Given the description of an element on the screen output the (x, y) to click on. 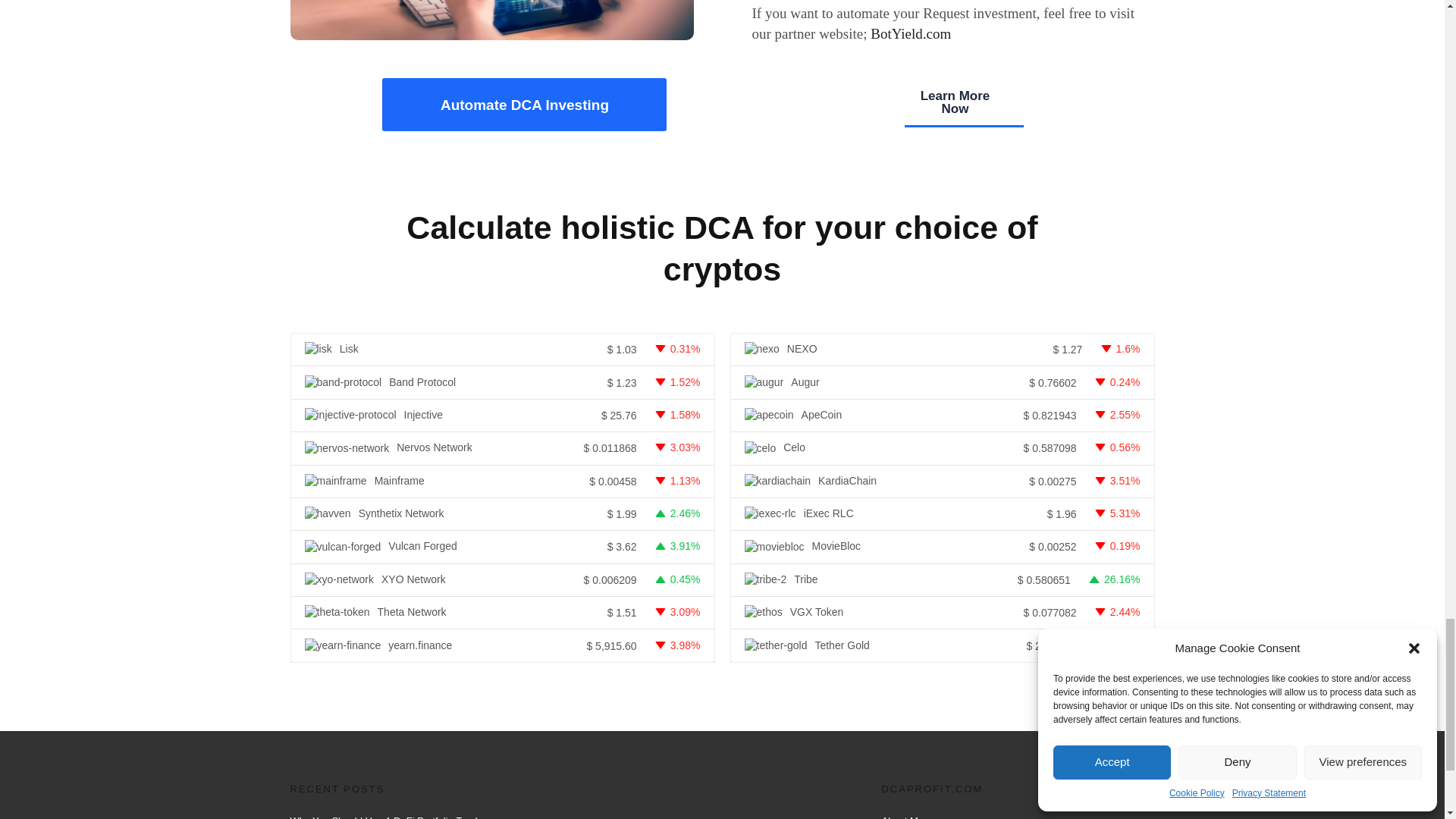
Low risk DCA strategy, increase profit, DCA bots (491, 20)
